Given the description of an element on the screen output the (x, y) to click on. 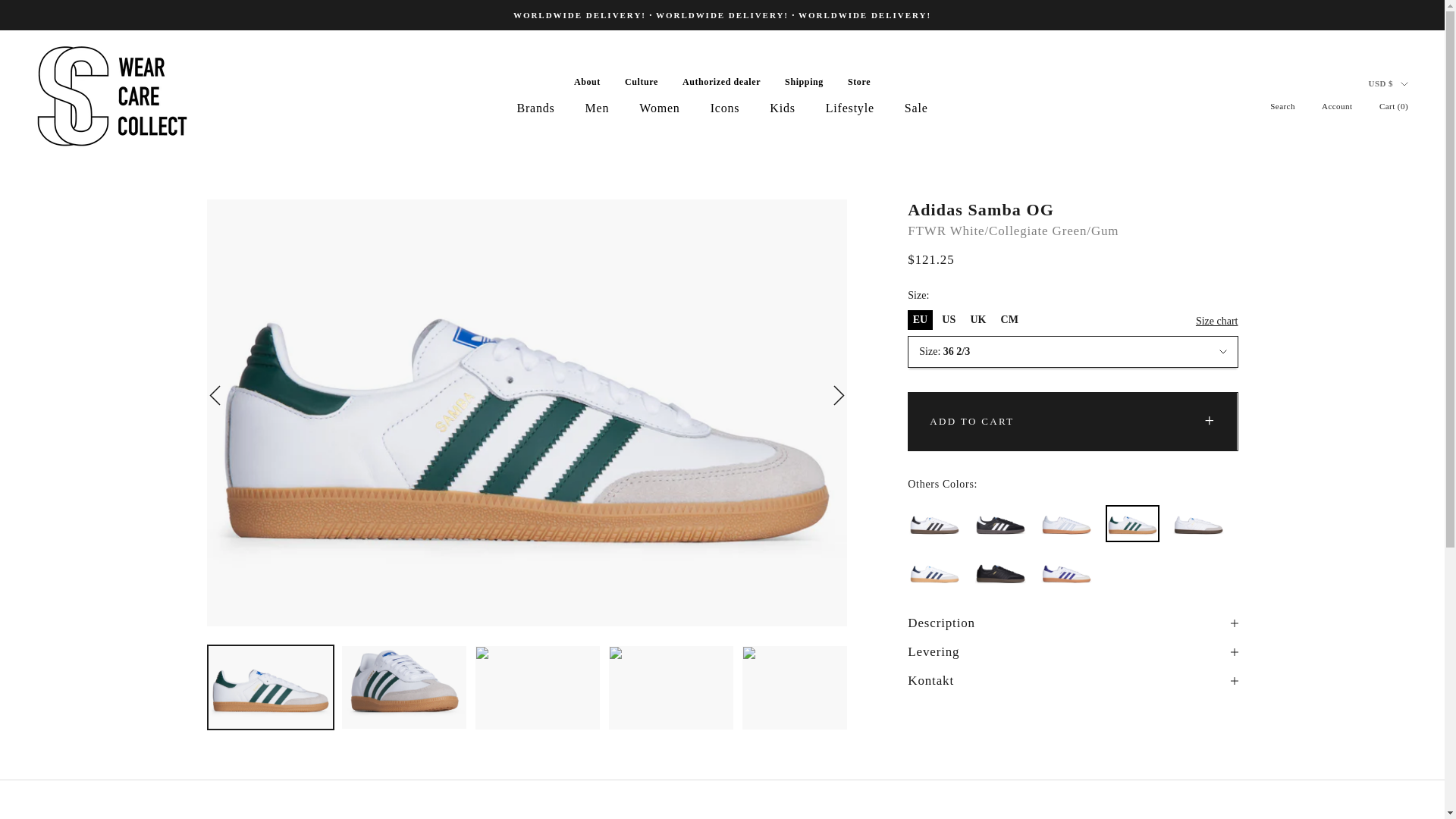
Shoe Chapter (111, 96)
Store (858, 81)
About (586, 81)
Authorized dealer (721, 81)
Culture (641, 81)
Shipping (804, 81)
